Given the description of an element on the screen output the (x, y) to click on. 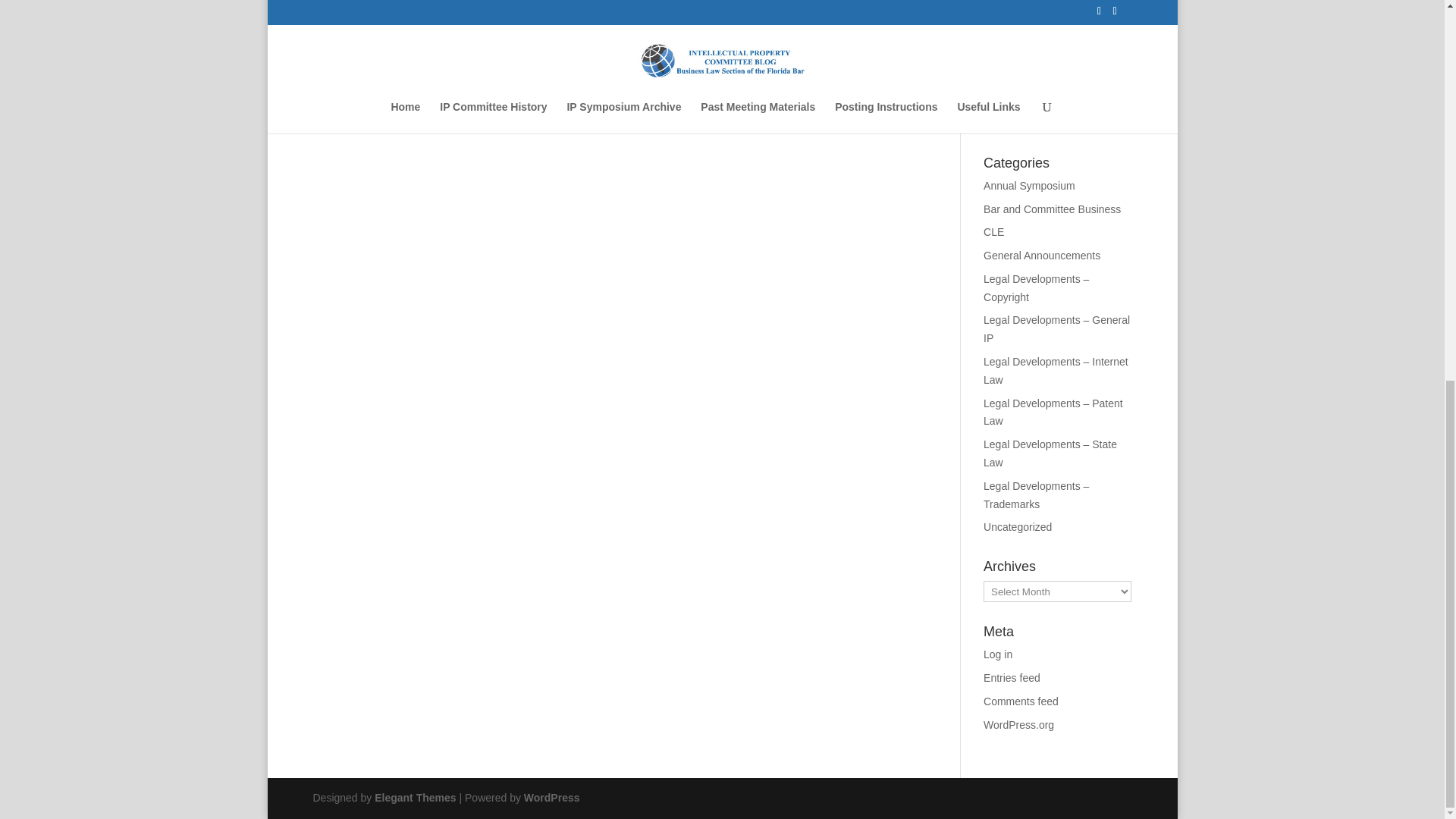
Annual Symposium (1029, 185)
logged in (395, 20)
Entries feed (1012, 677)
USPTO issues Final Rule Setting and adjusting Trademark fees (1043, 105)
General Announcements (1042, 255)
Premium WordPress Themes (414, 797)
Comments feed (1021, 701)
Log in (997, 654)
CLE (994, 232)
